Given the description of an element on the screen output the (x, y) to click on. 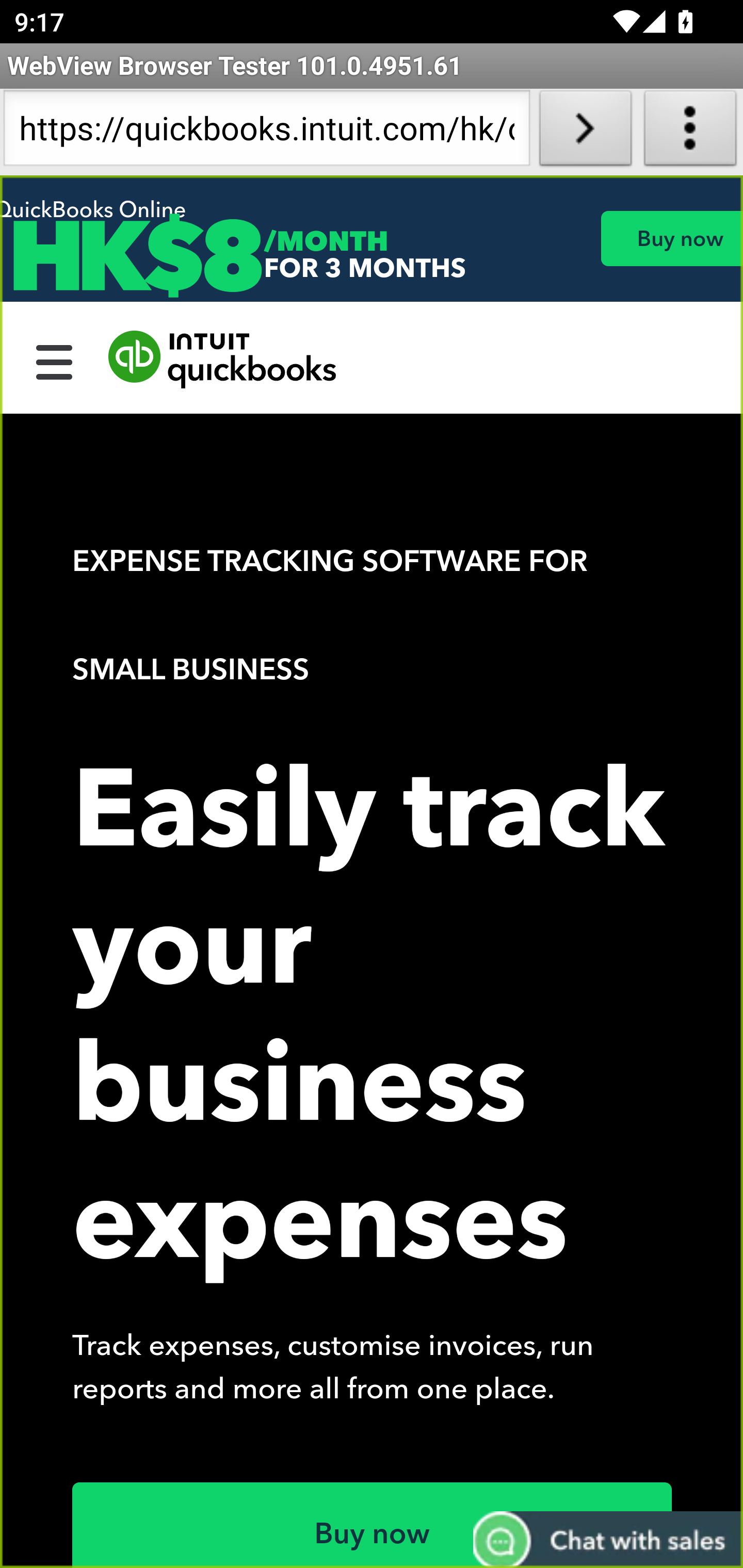
Load URL (585, 132)
About WebView (690, 132)
Buy now (671, 238)
quickbooks-mobile-burger (54, 359)
quickbooks (222, 359)
Buy now (372, 1524)
